Given the description of an element on the screen output the (x, y) to click on. 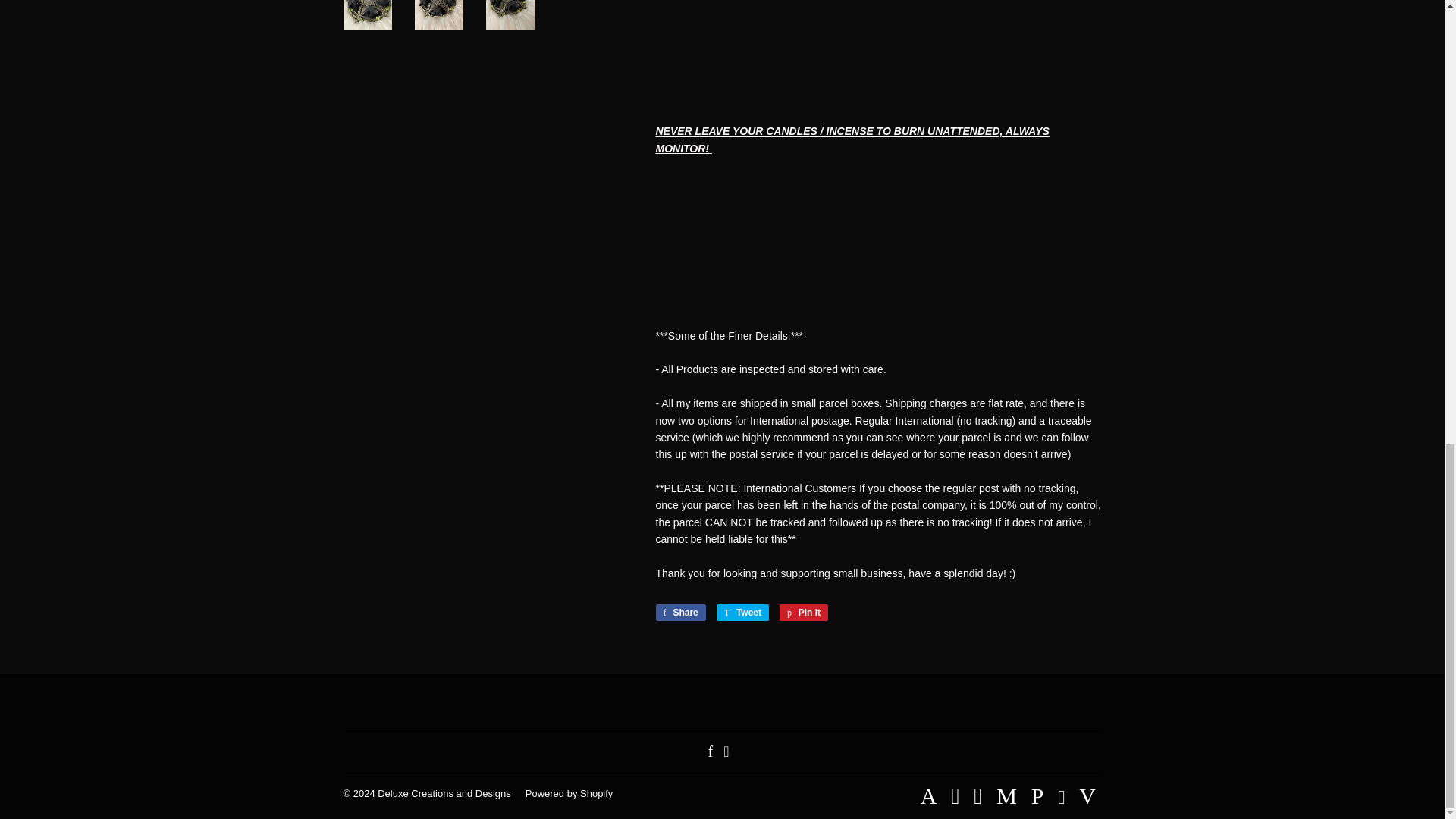
Share on Facebook (679, 612)
Tweet on Twitter (742, 612)
Deluxe Creations and Designs on Instagram (726, 752)
Pin on Pinterest (803, 612)
Deluxe Creations and Designs on Facebook (710, 752)
